Given the description of an element on the screen output the (x, y) to click on. 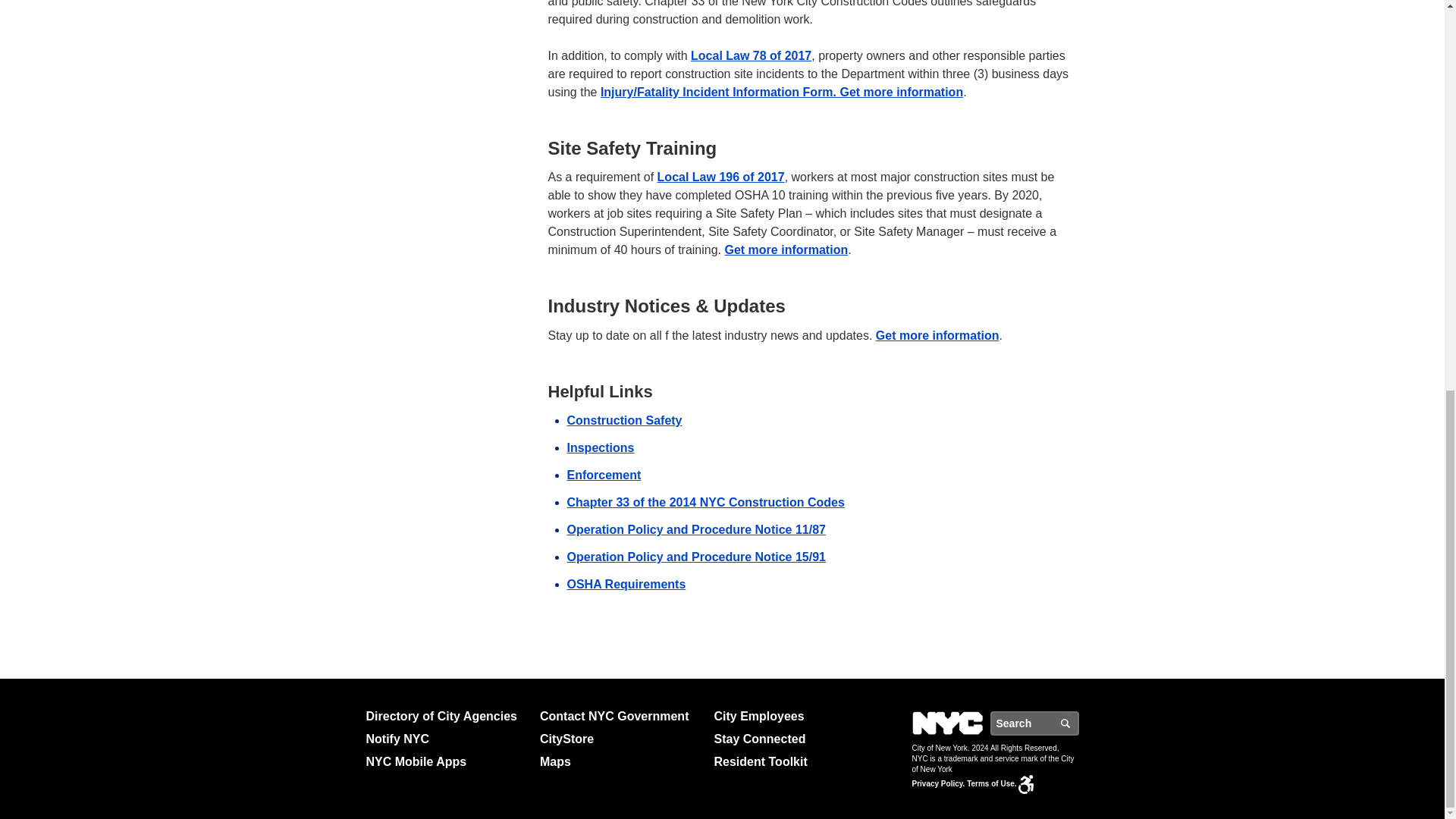
Privacy Ploicy  (937, 783)
Terms of Use (991, 783)
Get more information (786, 249)
Enforcement (604, 474)
Local Law 78 of 2017 (750, 55)
Local Law 196 of 2017 (721, 176)
Construction Safety (624, 420)
Inspections (600, 447)
Chapter 33 of the 2014 NYC Construction Codes (705, 502)
Get more information (937, 335)
OSHA Requirements (626, 584)
